Given the description of an element on the screen output the (x, y) to click on. 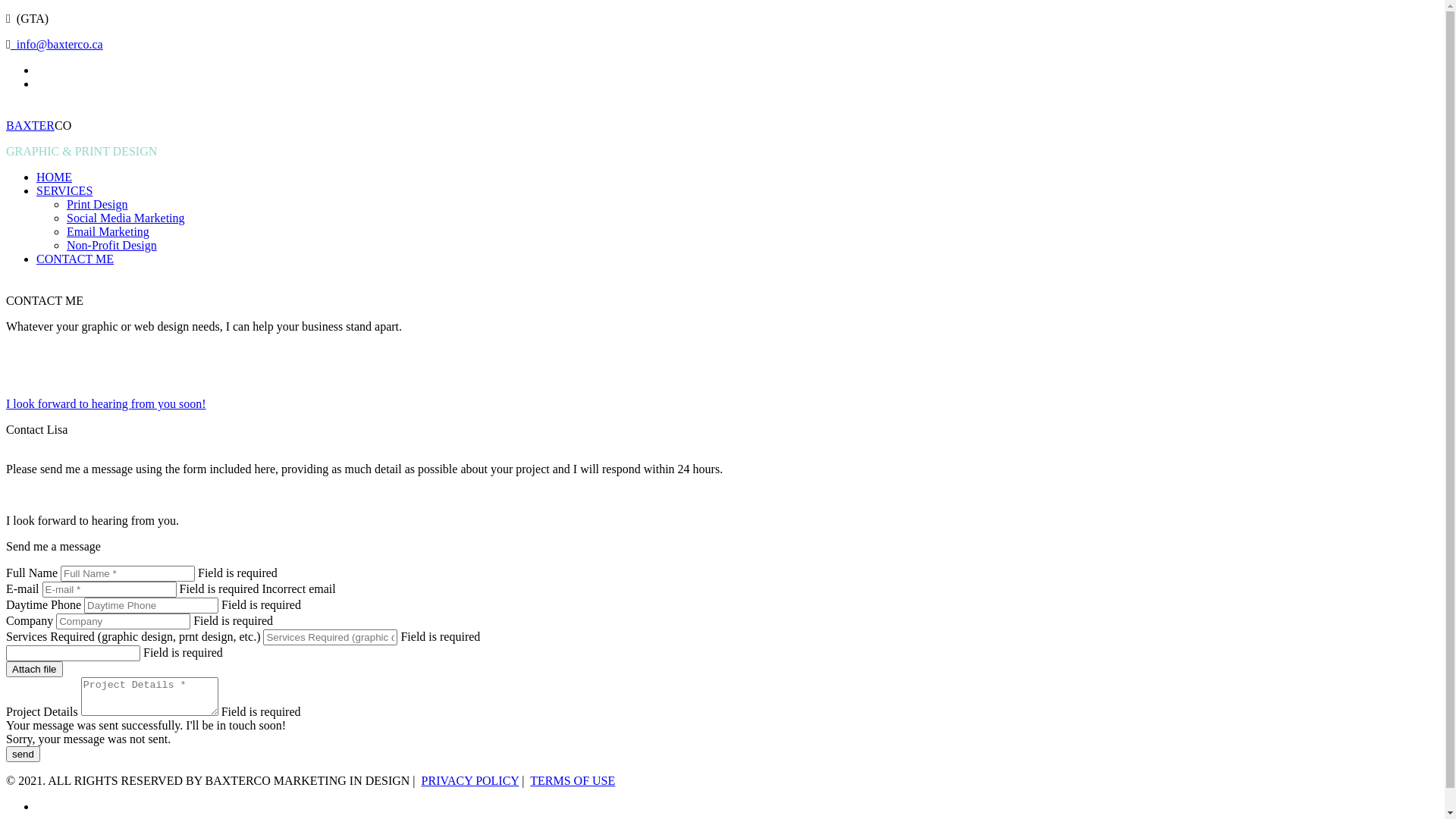
send Element type: text (23, 754)
Print Design Element type: text (96, 203)
TERMS OF USE Element type: text (572, 780)
BAXTER Element type: text (30, 125)
CONTACT ME Element type: text (74, 258)
Email Marketing Element type: text (107, 231)
Attach file Element type: text (34, 669)
Social Media Marketing Element type: text (125, 217)
I look forward to hearing from you soon! Element type: text (106, 403)
  info@baxterco.ca Element type: text (56, 43)
SERVICES Element type: text (64, 190)
HOME Element type: text (54, 176)
Non-Profit Design Element type: text (111, 244)
PRIVACY POLICY Element type: text (470, 780)
